Given the description of an element on the screen output the (x, y) to click on. 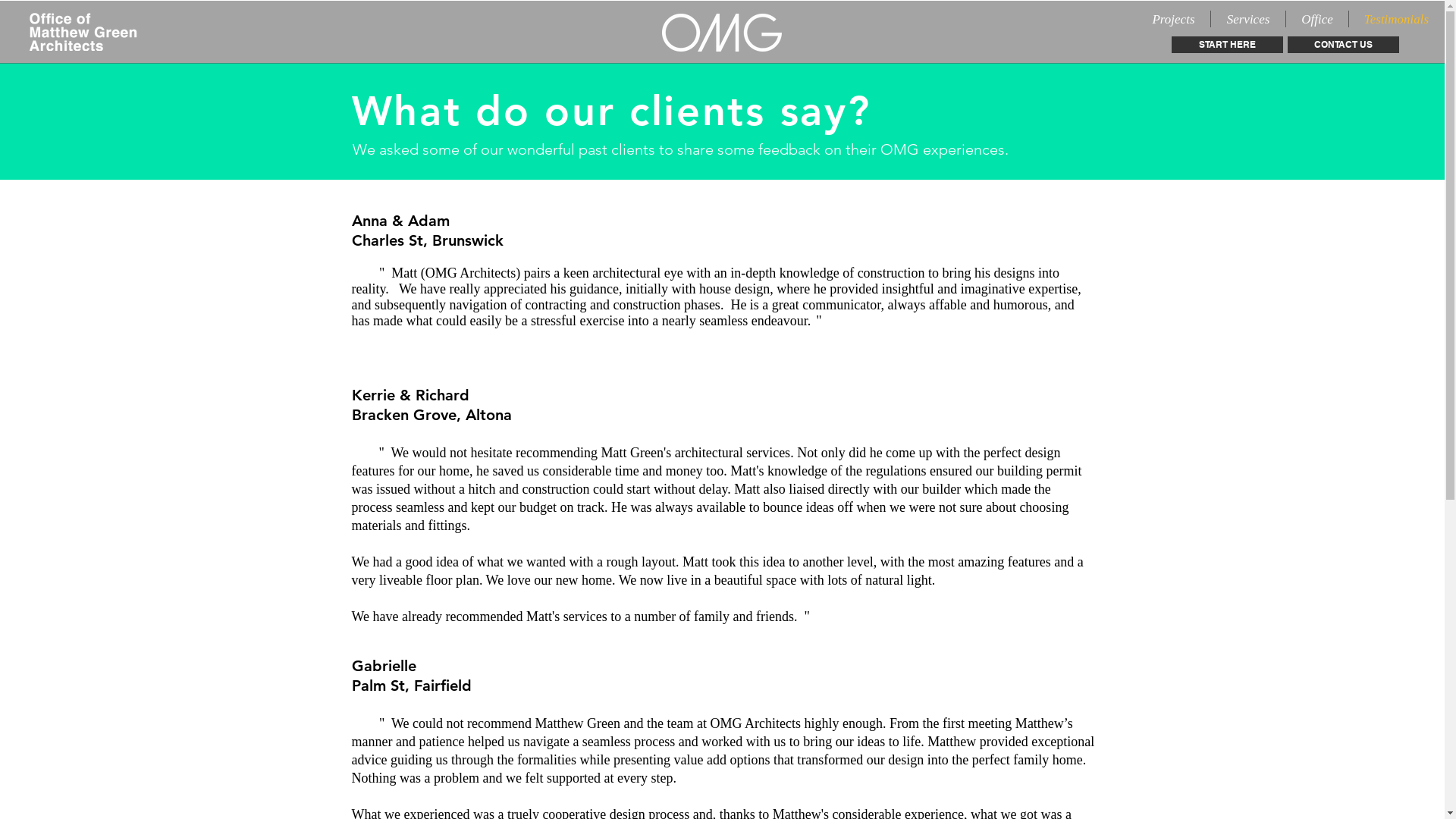
Testimonials Element type: text (1396, 18)
Office Element type: text (1317, 18)
CONTACT US Element type: text (1343, 44)
START HERE Element type: text (1227, 44)
Services Element type: text (1248, 18)
Projects Element type: text (1173, 18)
